Given the description of an element on the screen output the (x, y) to click on. 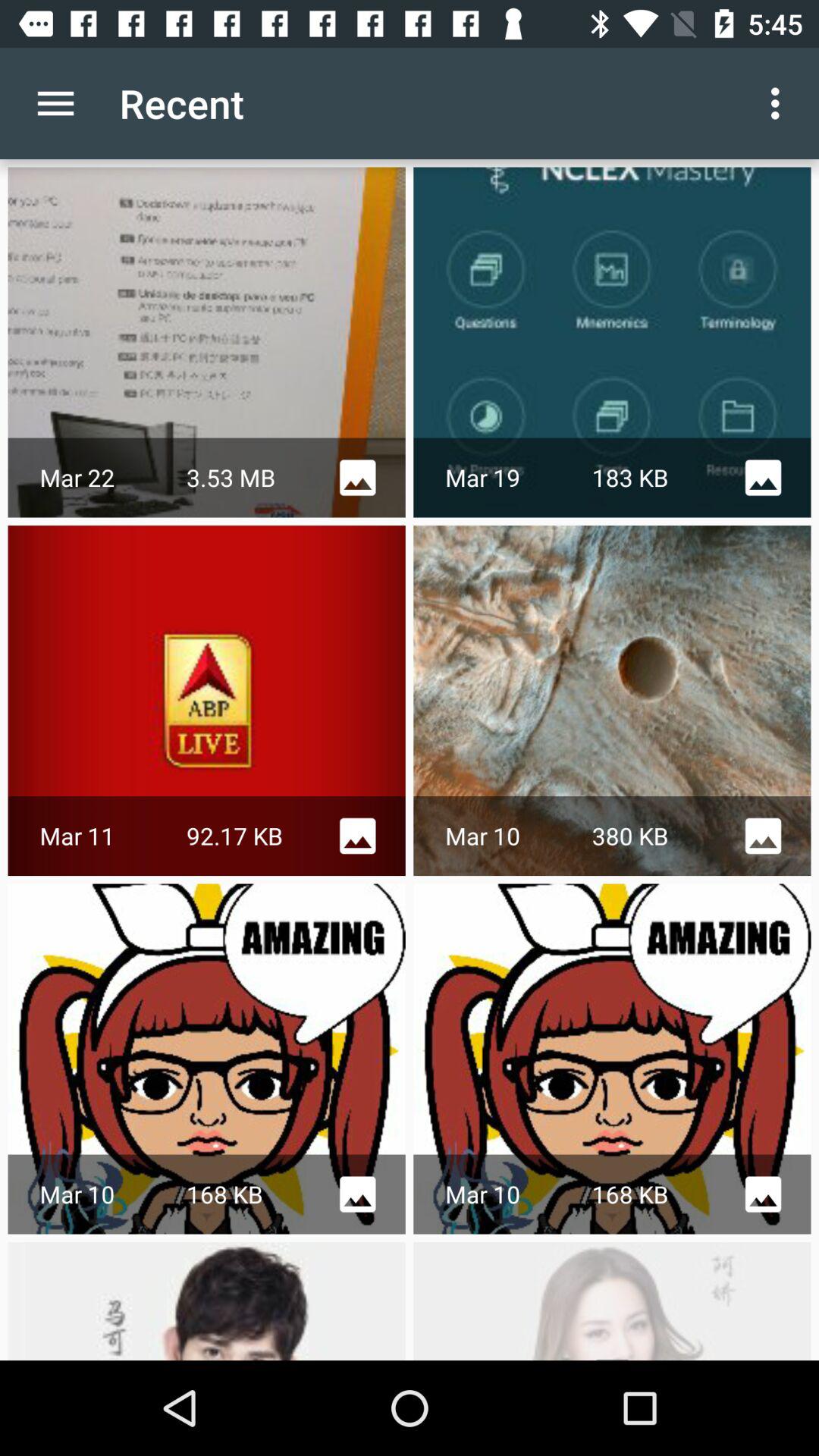
select the second row third image (612, 1058)
select the last image which is below mar 10 (206, 1300)
select the second image which is in third row (612, 1058)
